Given the description of an element on the screen output the (x, y) to click on. 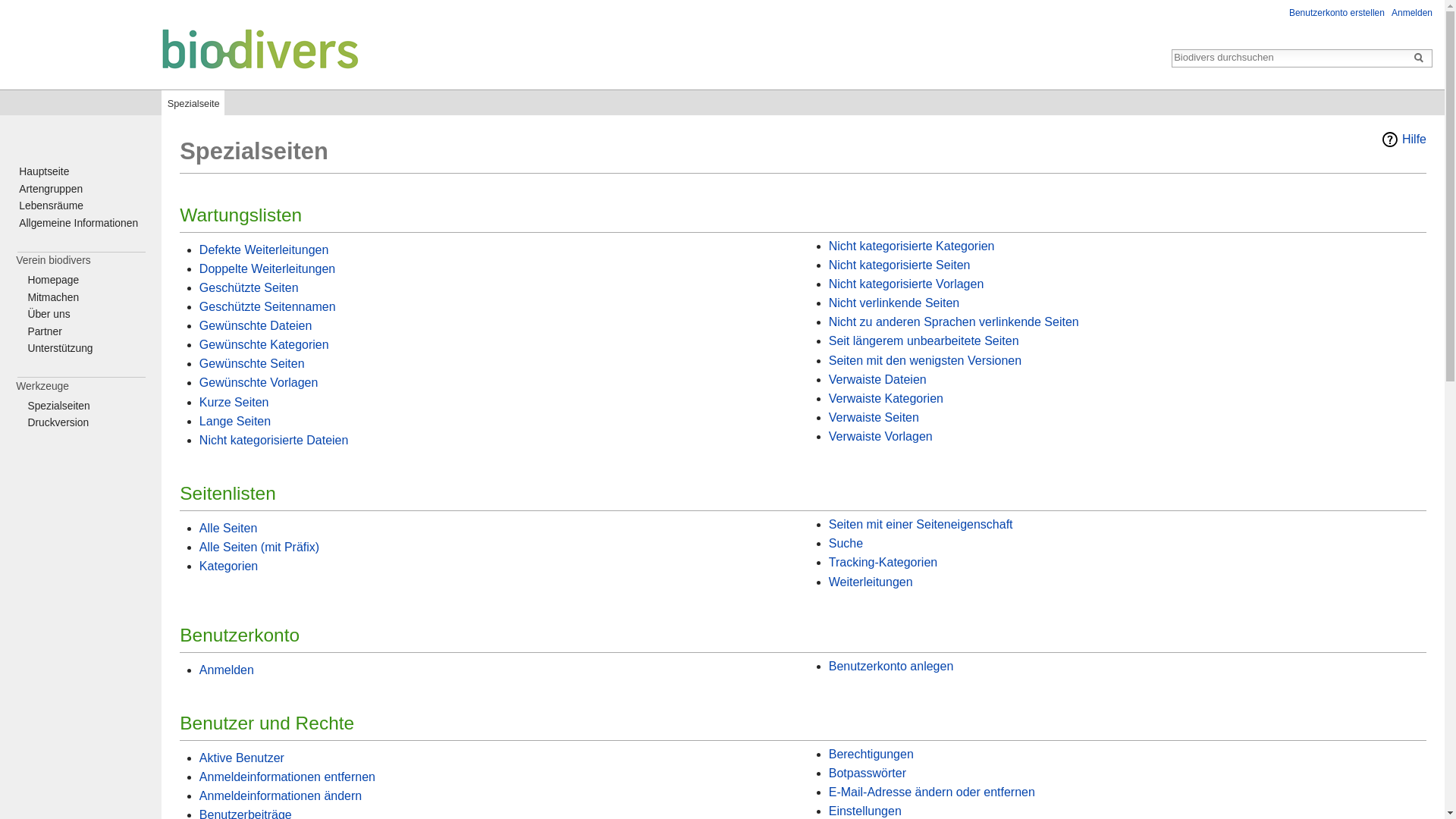
Kategorien Element type: text (228, 565)
Anmeldeinformationen entfernen Element type: text (287, 776)
Lange Seiten Element type: text (234, 420)
Einstellungen Element type: text (864, 810)
Hilfe Element type: text (1403, 139)
Tracking-Kategorien Element type: text (882, 561)
Seite Element type: text (1418, 58)
Benutzerkonto erstellen Element type: text (1336, 12)
Nicht zu anderen Sprachen verlinkende Seiten Element type: text (953, 321)
Anmelden Element type: text (226, 669)
Mitmachen Element type: text (52, 297)
Alle Seiten Element type: text (228, 527)
Spezialseite Element type: text (193, 99)
Partner Element type: text (44, 331)
Druckversion Element type: text (57, 422)
Defekte Weiterleitungen Element type: text (263, 249)
Biodivers durchsuchen [alt-shift-f] Element type: hover (1288, 57)
Verwaiste Vorlagen Element type: text (880, 435)
Doppelte Weiterleitungen Element type: text (267, 268)
Benutzerkonto anlegen Element type: text (890, 665)
Seiten mit den wenigsten Versionen Element type: text (924, 360)
Verwaiste Seiten Element type: text (873, 417)
Suche Element type: text (845, 542)
Nicht kategorisierte Kategorien Element type: text (911, 245)
Nicht kategorisierte Vorlagen Element type: text (906, 283)
Verwaiste Dateien Element type: text (877, 379)
Spezialseiten Element type: text (58, 405)
Allgemeine Informationen Element type: text (78, 222)
Nicht verlinkende Seiten Element type: text (894, 302)
Nicht kategorisierte Seiten Element type: text (899, 264)
Aktive Benutzer Element type: text (241, 757)
Seiten mit einer Seiteneigenschaft Element type: text (920, 523)
Hauptseite Element type: text (43, 171)
Nicht kategorisierte Dateien Element type: text (273, 439)
Homepage Element type: text (52, 279)
Anmelden Element type: text (1411, 12)
Kurze Seiten Element type: text (234, 401)
Artengruppen Element type: text (50, 188)
Weiterleitungen Element type: text (870, 580)
Verwaiste Kategorien Element type: text (885, 398)
Berechtigungen Element type: text (870, 753)
Hauptseite Element type: hover (183, 48)
